Given the description of an element on the screen output the (x, y) to click on. 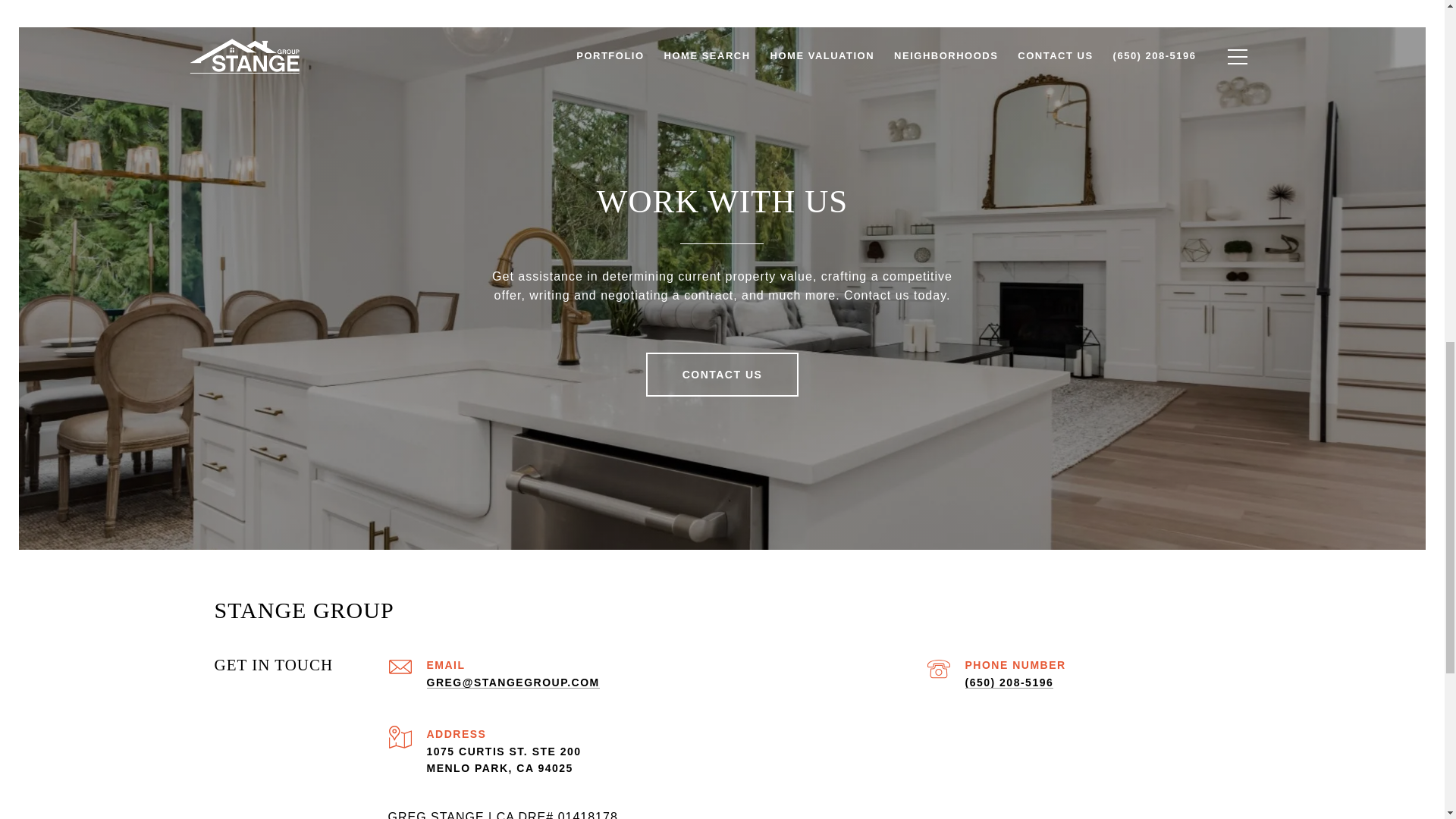
CONTACT US (722, 374)
